Given the description of an element on the screen output the (x, y) to click on. 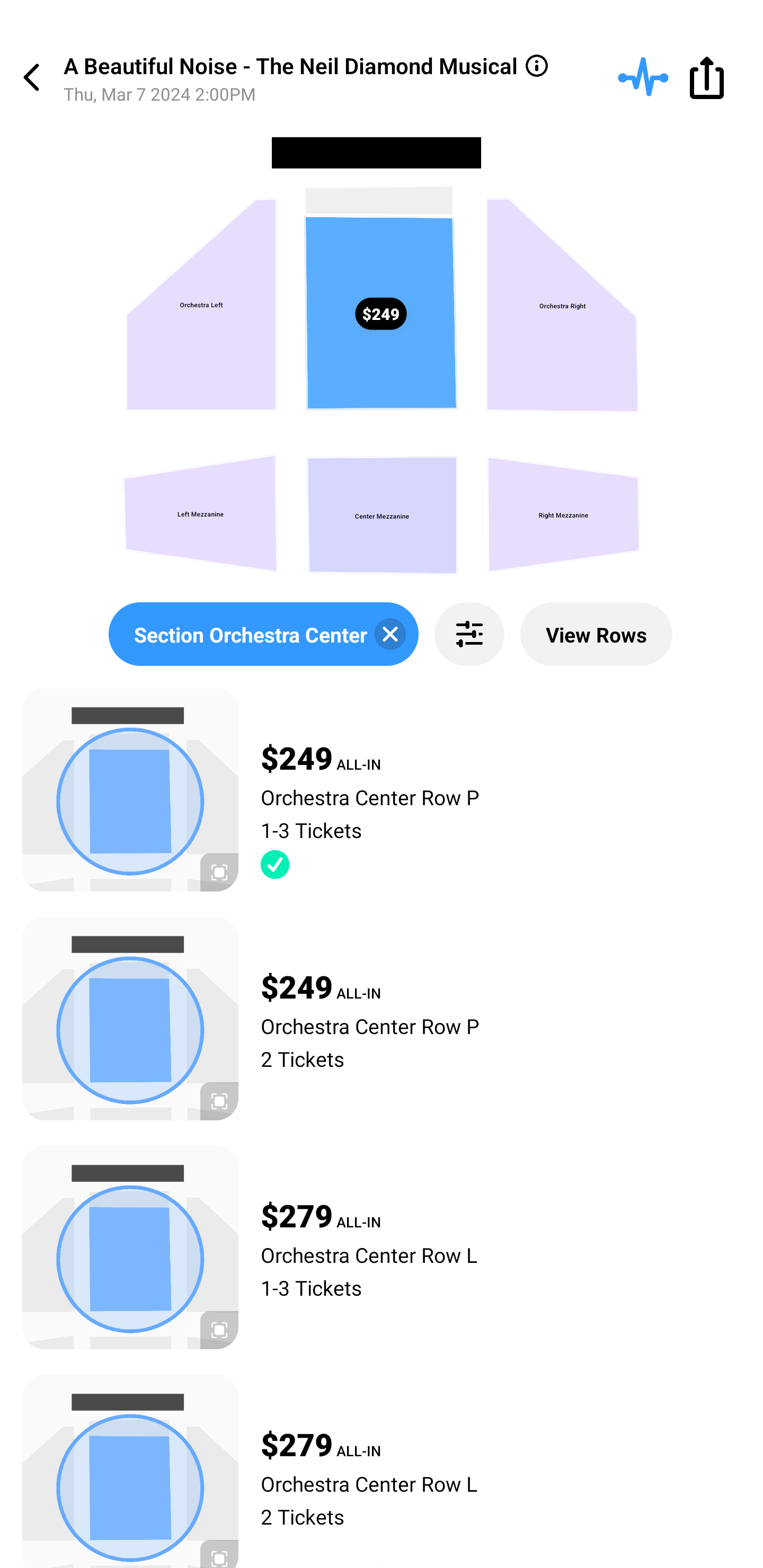
$249 (380, 313)
Section Orchestra Center (263, 634)
View Rows (596, 634)
